Given the description of an element on the screen output the (x, y) to click on. 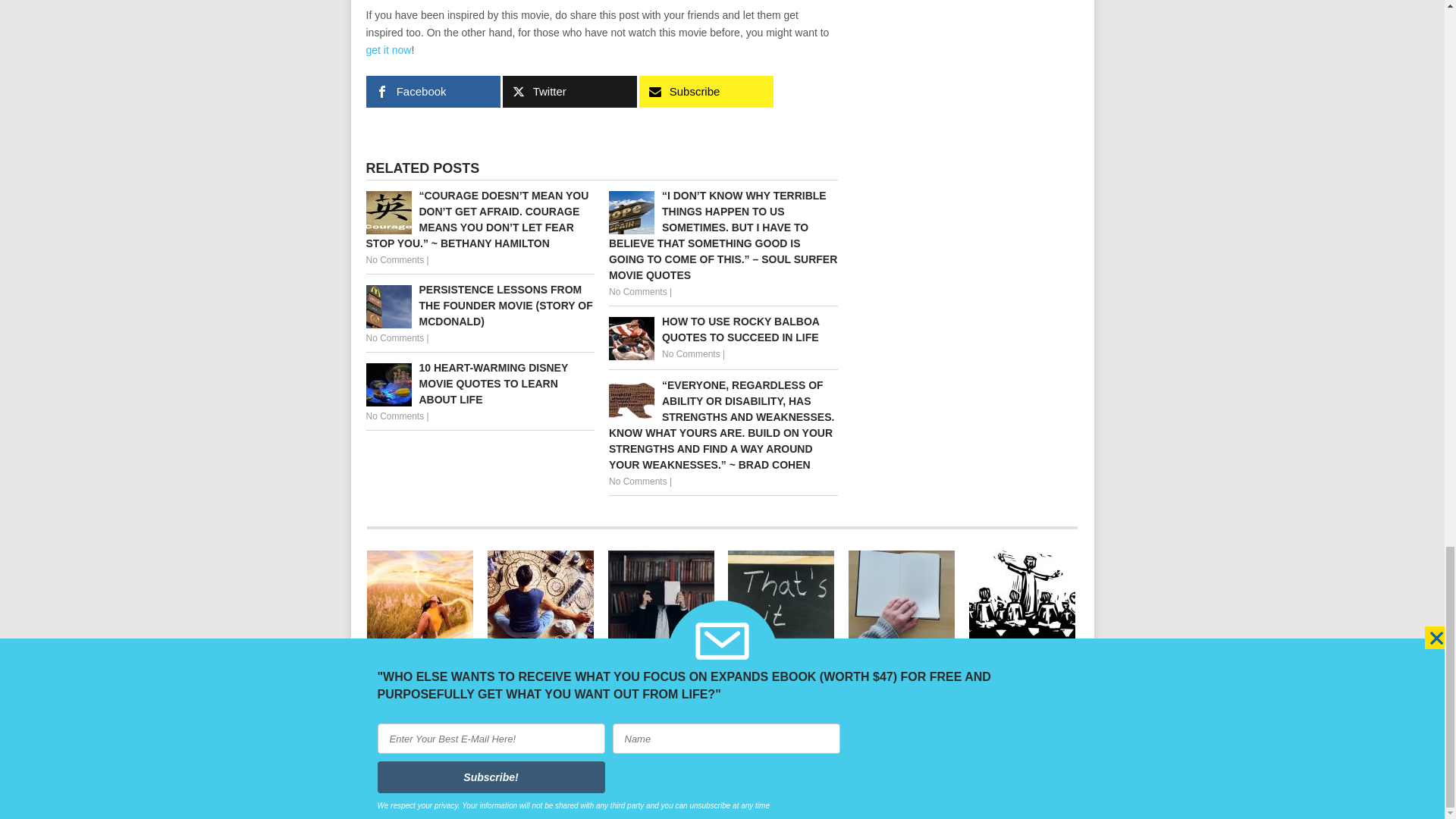
WHY DOES MANIFESTATION NOT WORK FOR ME? (540, 599)
No Comments (691, 353)
5 POWERFUL SITUATION WORDS TO HELP YOU STAY MOTIVATED (781, 599)
No Comments (637, 480)
Facebook (432, 91)
How To Use Rocky Balboa Quotes To Succeed In Life (723, 329)
10 HEART-WARMING DISNEY MOVIE QUOTES TO LEARN ABOUT LIFE (479, 383)
No Comments (637, 291)
JESUS MESSAGE OF THE DAY: EVERLASTING LIFE (1022, 599)
No Comments (394, 259)
Twitter (569, 91)
Subscribe (706, 91)
No Comments (394, 416)
HOW TO USE ROCKY BALBOA QUOTES TO SUCCEED IN LIFE (723, 329)
No Comments (394, 337)
